Given the description of an element on the screen output the (x, y) to click on. 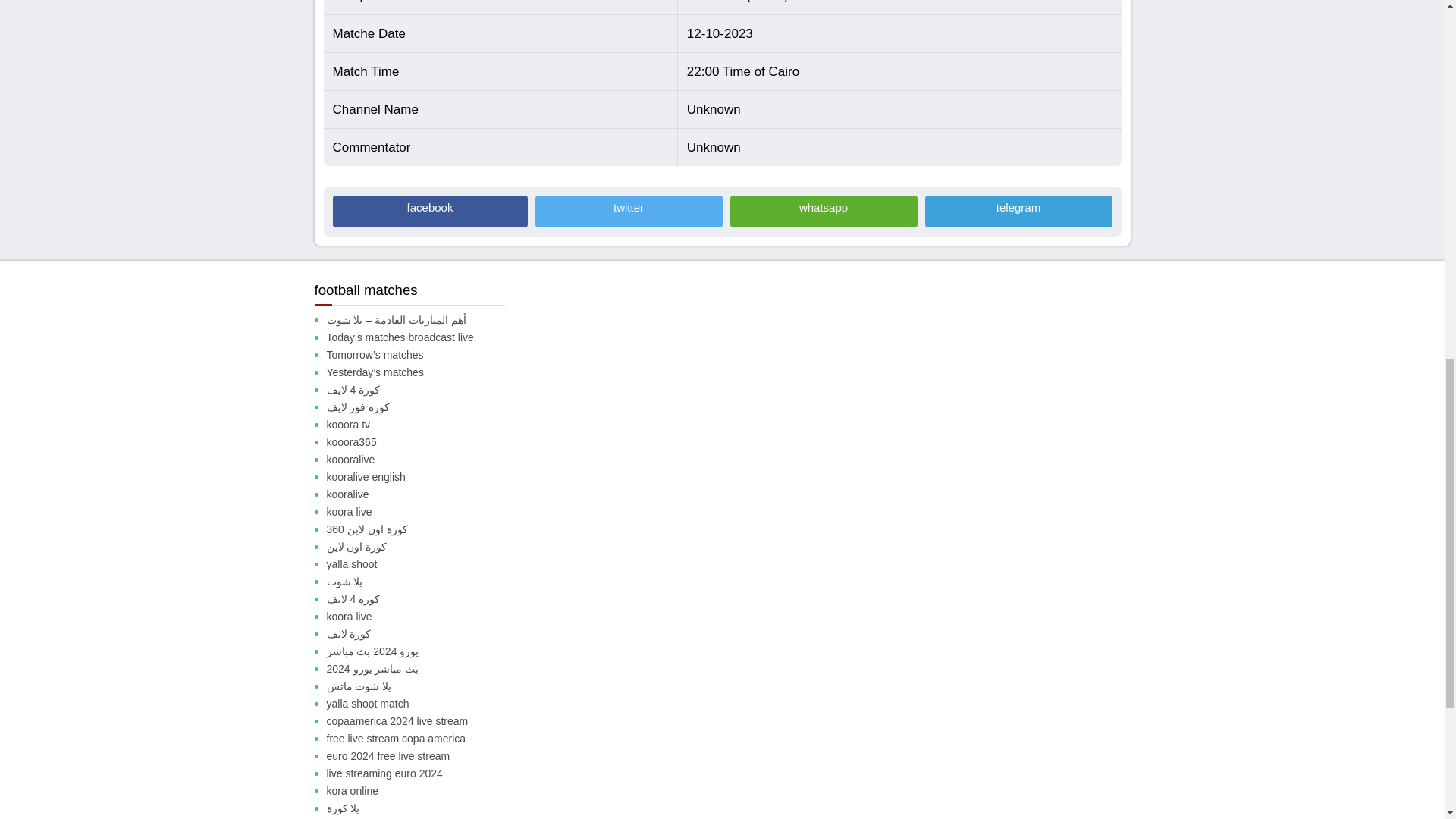
koora live (421, 616)
Share to facebook (429, 211)
whatsapp (823, 211)
koora live (421, 512)
twitter (628, 211)
Share to twitter (628, 211)
kooralive english (421, 477)
koooralive (421, 459)
kooora365 (421, 442)
facebook (429, 211)
Share to telegram (1018, 211)
kooralive (421, 494)
yalla shoot (421, 564)
Share to whatsapp (823, 211)
kooora tv (421, 424)
